Given the description of an element on the screen output the (x, y) to click on. 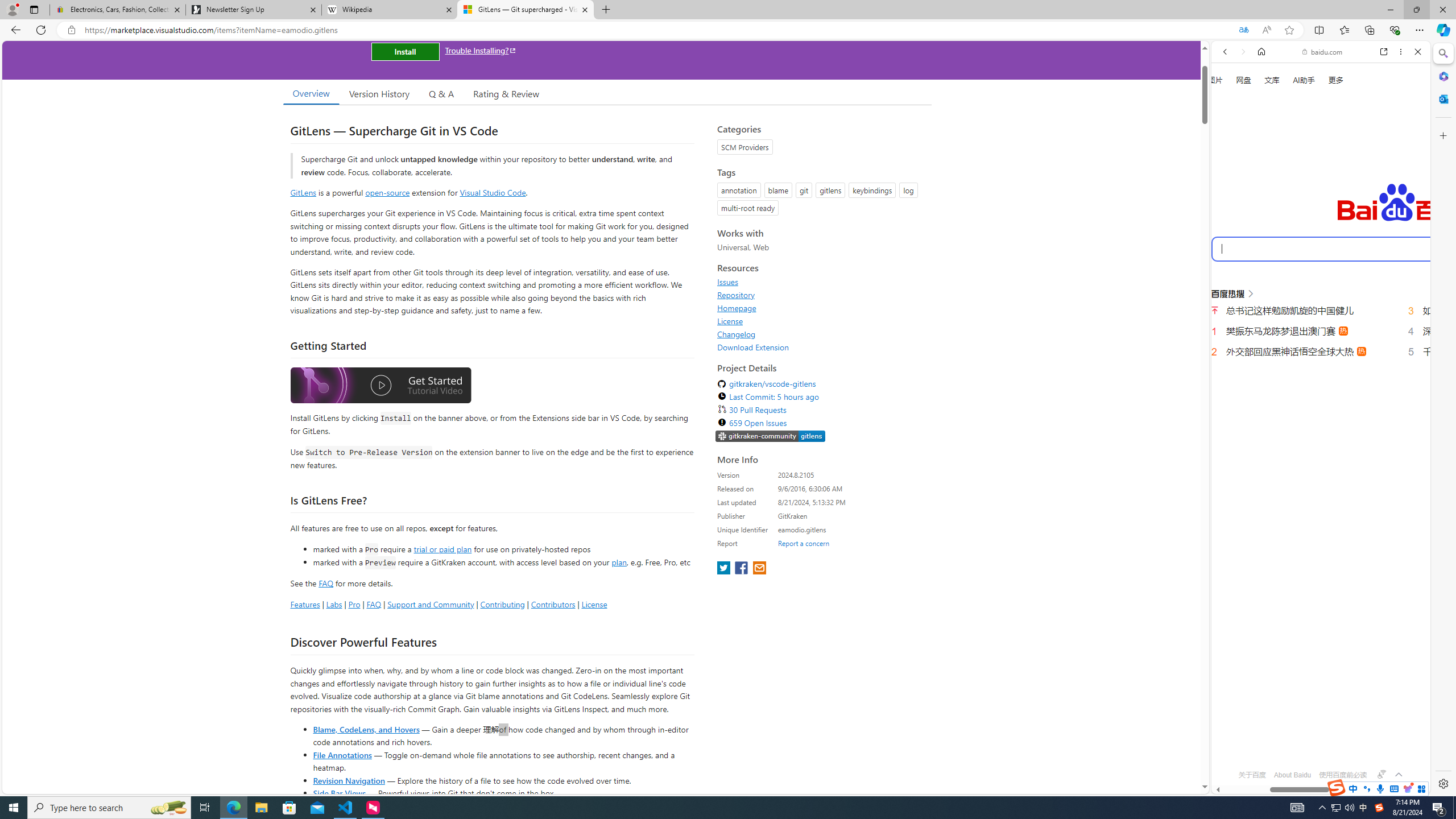
Repository (735, 294)
Open link in new tab (1383, 51)
Homepage (820, 307)
Address and search bar (658, 29)
License (729, 320)
Wikipedia (390, 9)
Translated (1243, 29)
Issues (820, 281)
English (US) (1320, 329)
To get missing image descriptions, open the context menu. (1229, 130)
Q & A (441, 92)
